Given the description of an element on the screen output the (x, y) to click on. 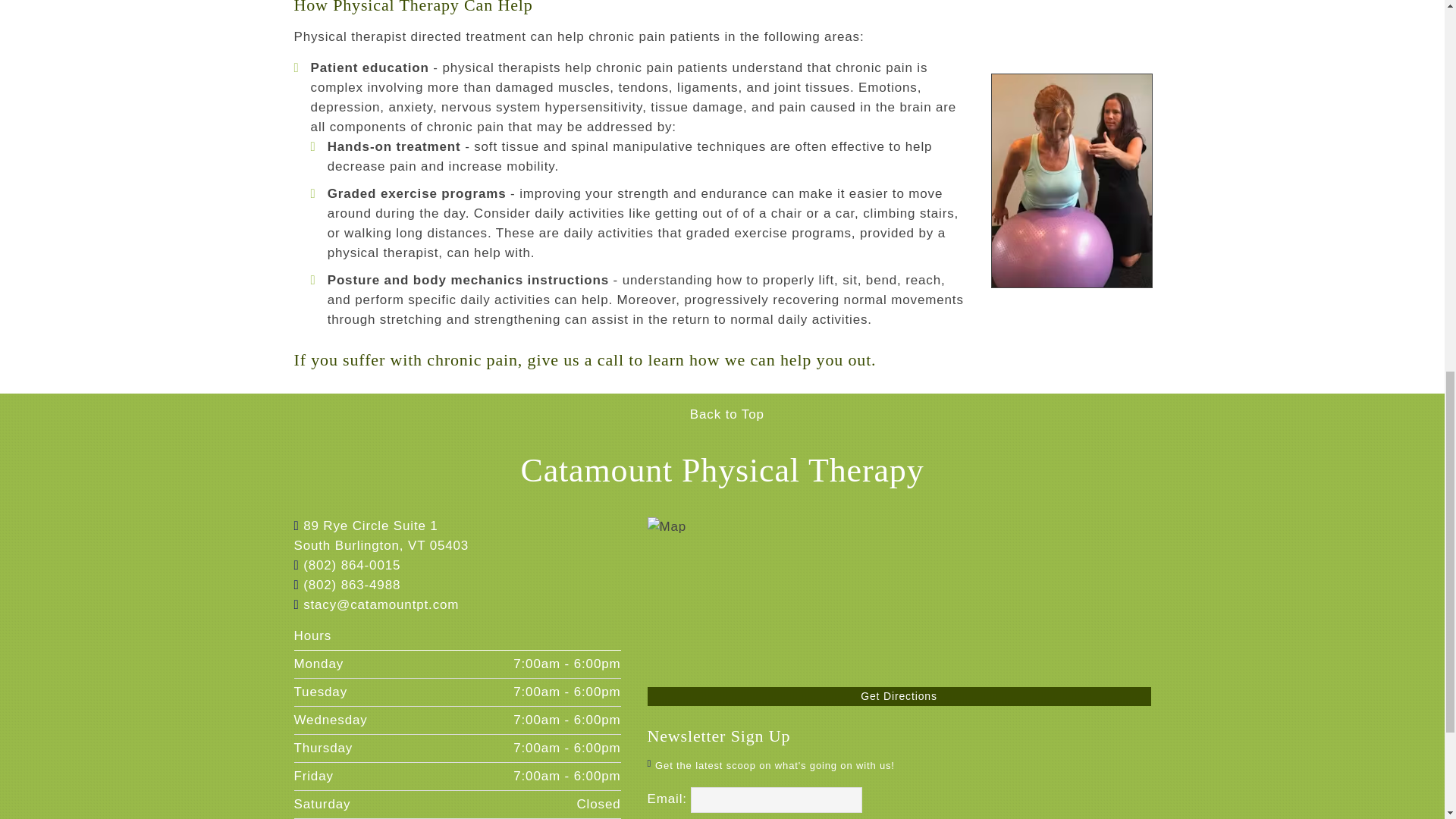
Back to Top (721, 414)
